Given the description of an element on the screen output the (x, y) to click on. 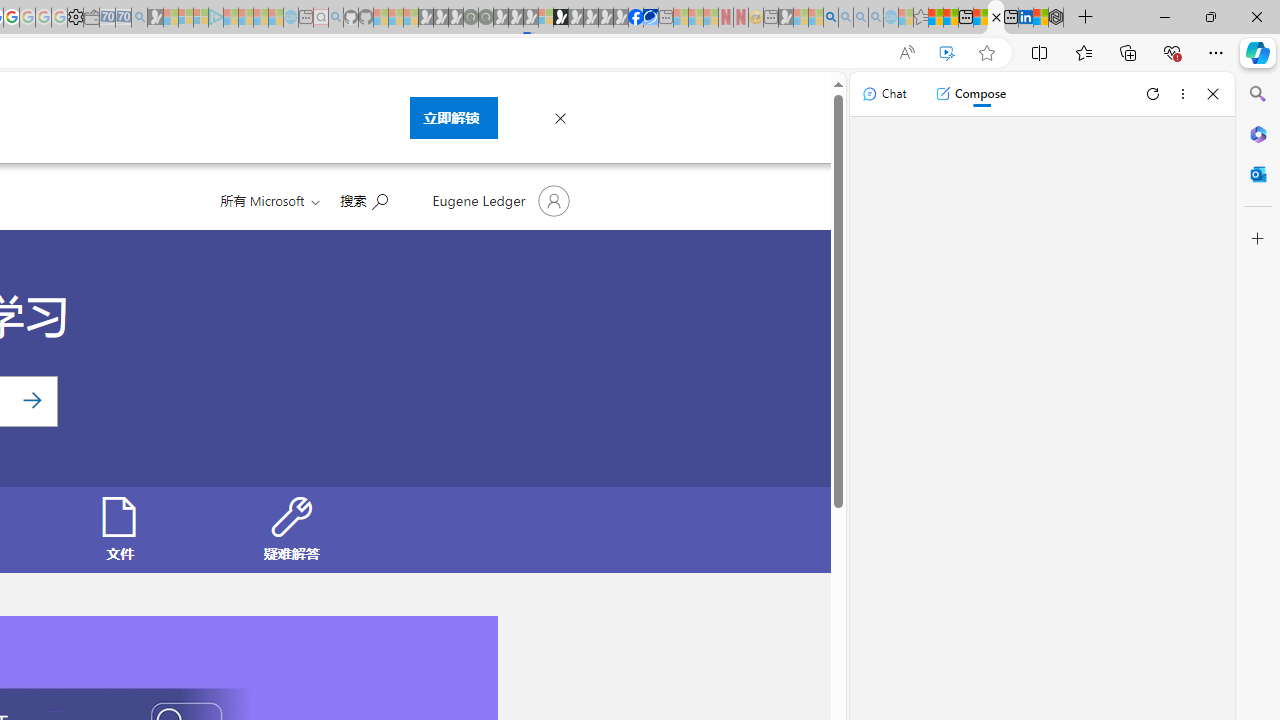
New Tab (1085, 17)
Future Focus Report 2024 - Sleeping (485, 17)
Close Customize pane (1258, 239)
Close (1213, 93)
Bing AI - Search (831, 17)
Browser essentials (1171, 52)
Read aloud this page (Ctrl+Shift+U) (906, 53)
Compose (970, 93)
Home | Sky Blue Bikes - Sky Blue Bikes - Sleeping (291, 17)
Search (1258, 94)
